Given the description of an element on the screen output the (x, y) to click on. 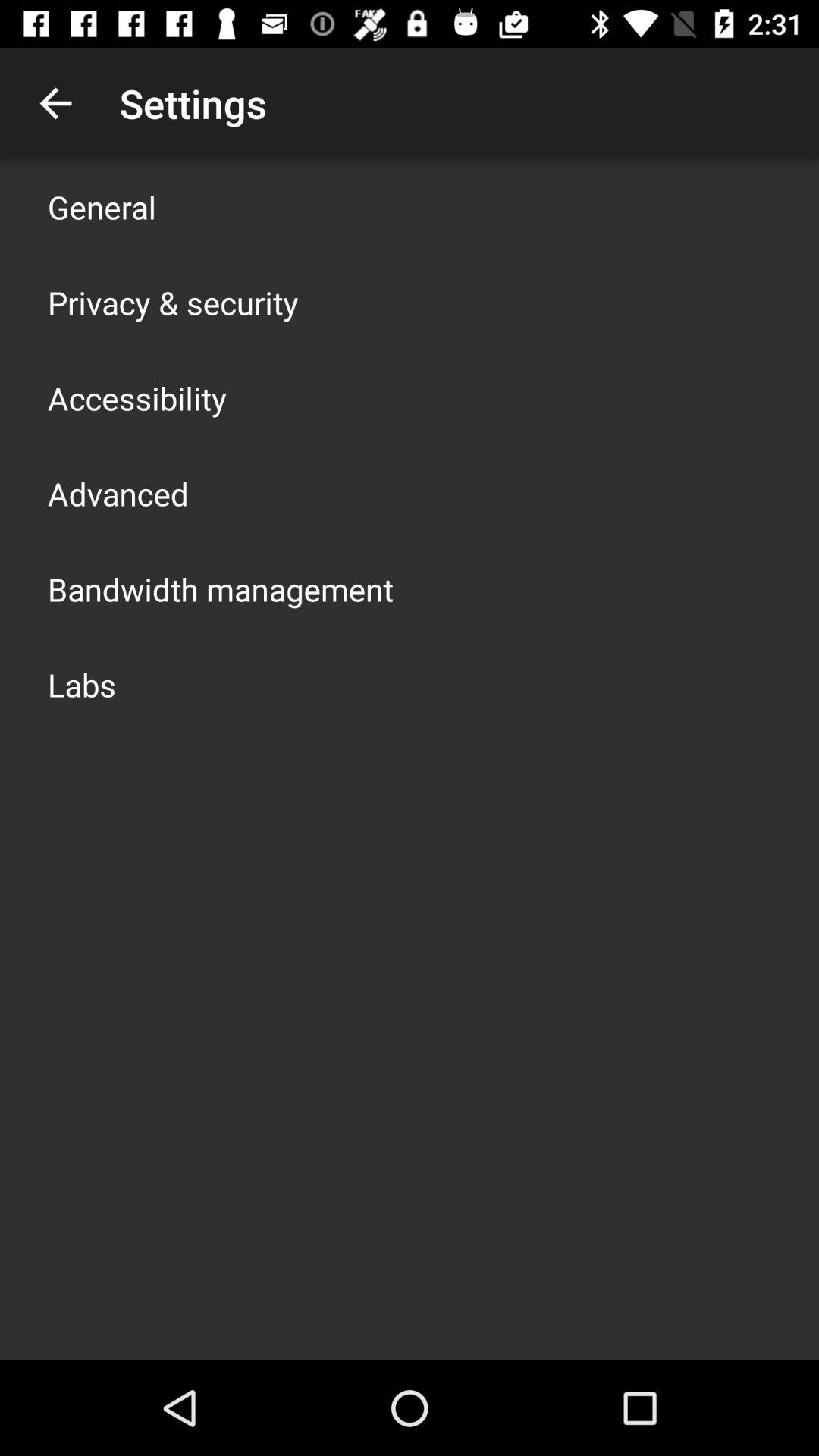
turn on icon above labs (220, 588)
